Given the description of an element on the screen output the (x, y) to click on. 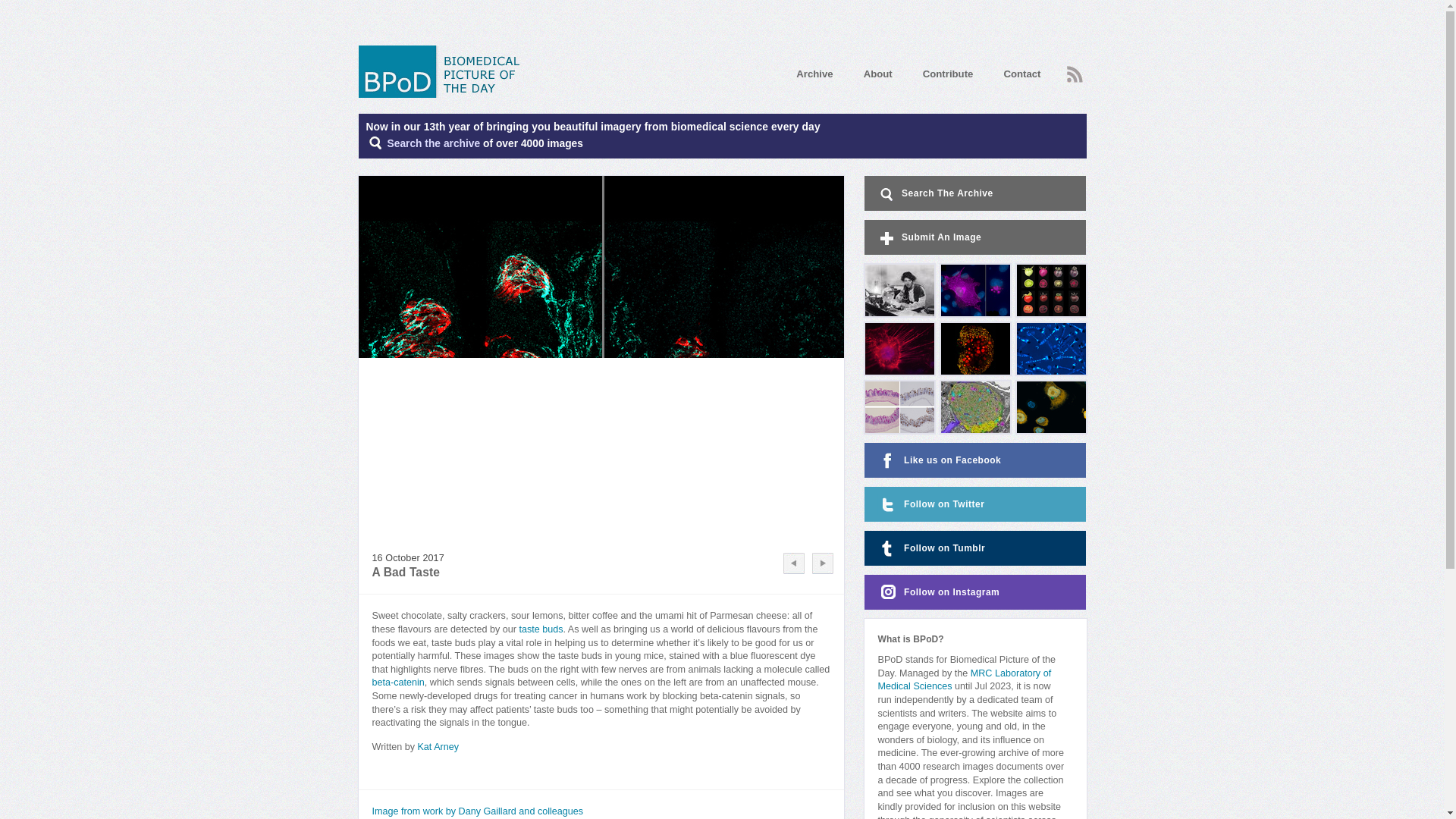
Contact (1022, 73)
Like us on Facebook (975, 460)
Submit An Image (975, 237)
Search The Archive (433, 143)
Follow on Instagram (975, 591)
Contribute (948, 73)
taste buds (540, 629)
RSS (1073, 74)
Image from work by Dany Gaillard and colleagues (477, 810)
Search the archive (433, 143)
